Given the description of an element on the screen output the (x, y) to click on. 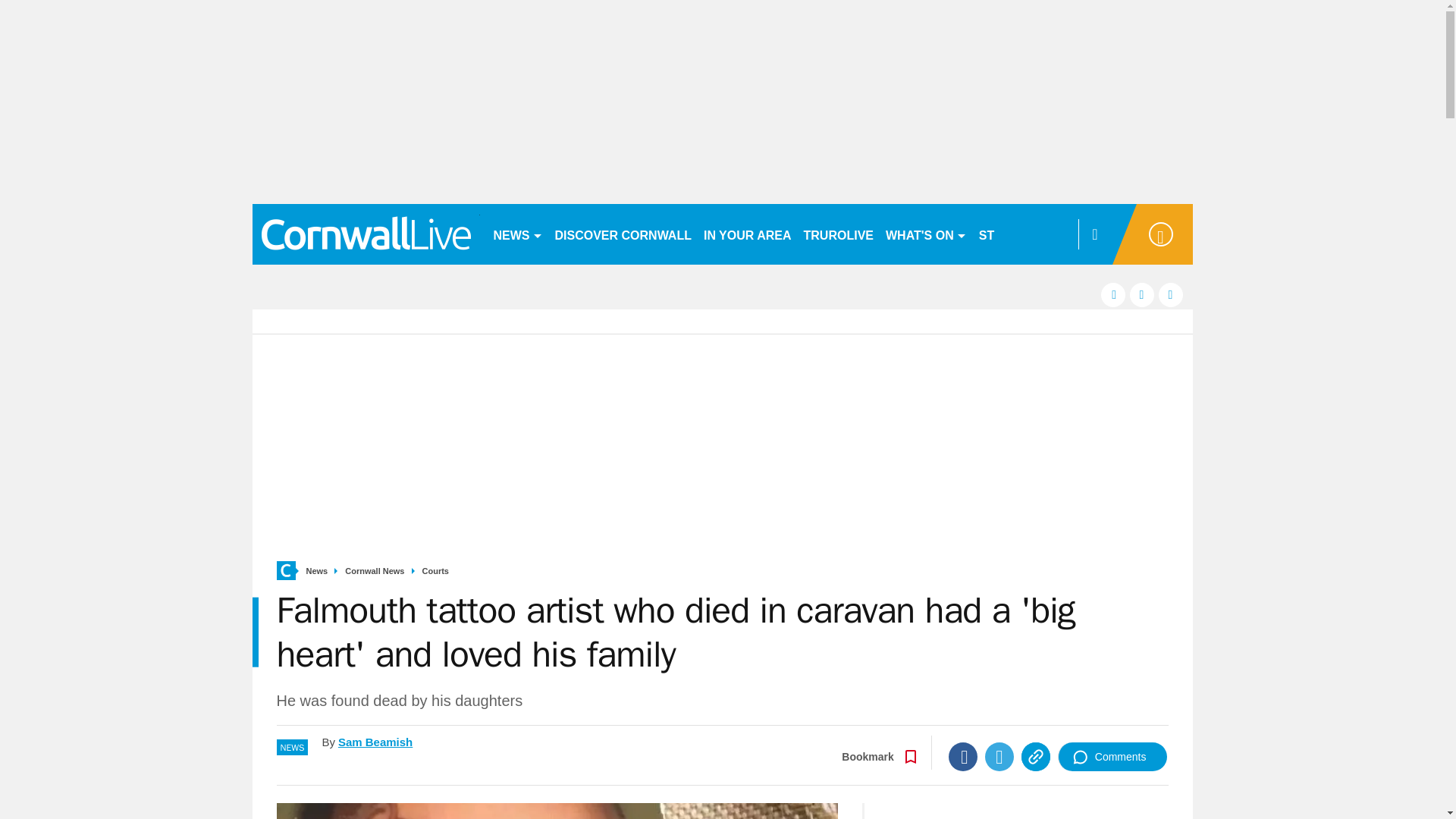
Facebook (962, 756)
instagram (1170, 294)
twitter (1141, 294)
Comments (1112, 756)
TRUROLIVE (838, 233)
NEWS (517, 233)
Twitter (999, 756)
DISCOVER CORNWALL (622, 233)
facebook (1112, 294)
IN YOUR AREA (747, 233)
